Given the description of an element on the screen output the (x, y) to click on. 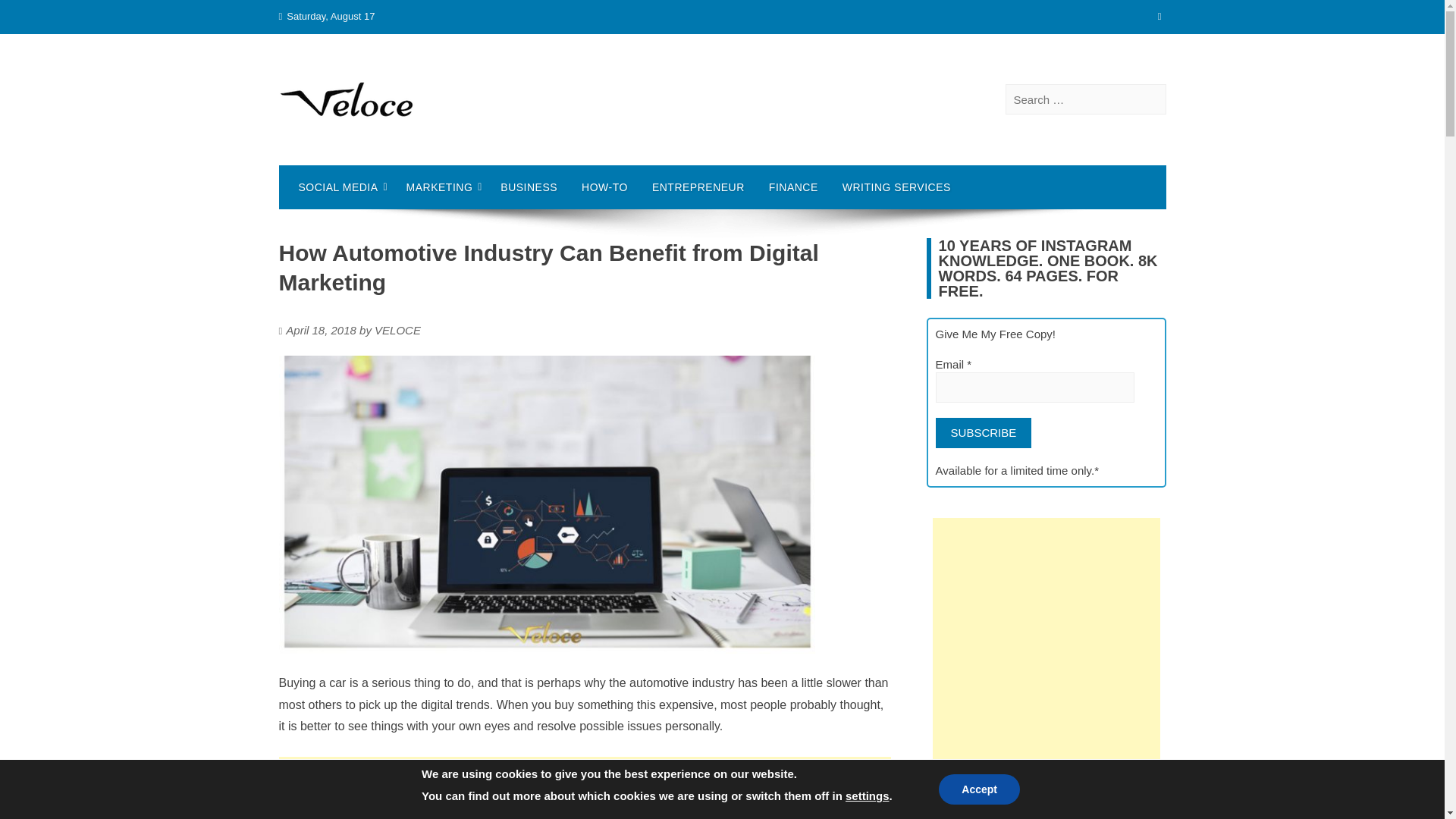
MARKETING (441, 187)
BUSINESS (528, 187)
SUBSCRIBE (984, 432)
ENTREPRENEUR (698, 187)
HOW-TO (604, 187)
Advertisement (585, 787)
SUBSCRIBE (984, 432)
SOCIAL MEDIA (340, 187)
Email (1035, 387)
FINANCE (793, 187)
